Given the description of an element on the screen output the (x, y) to click on. 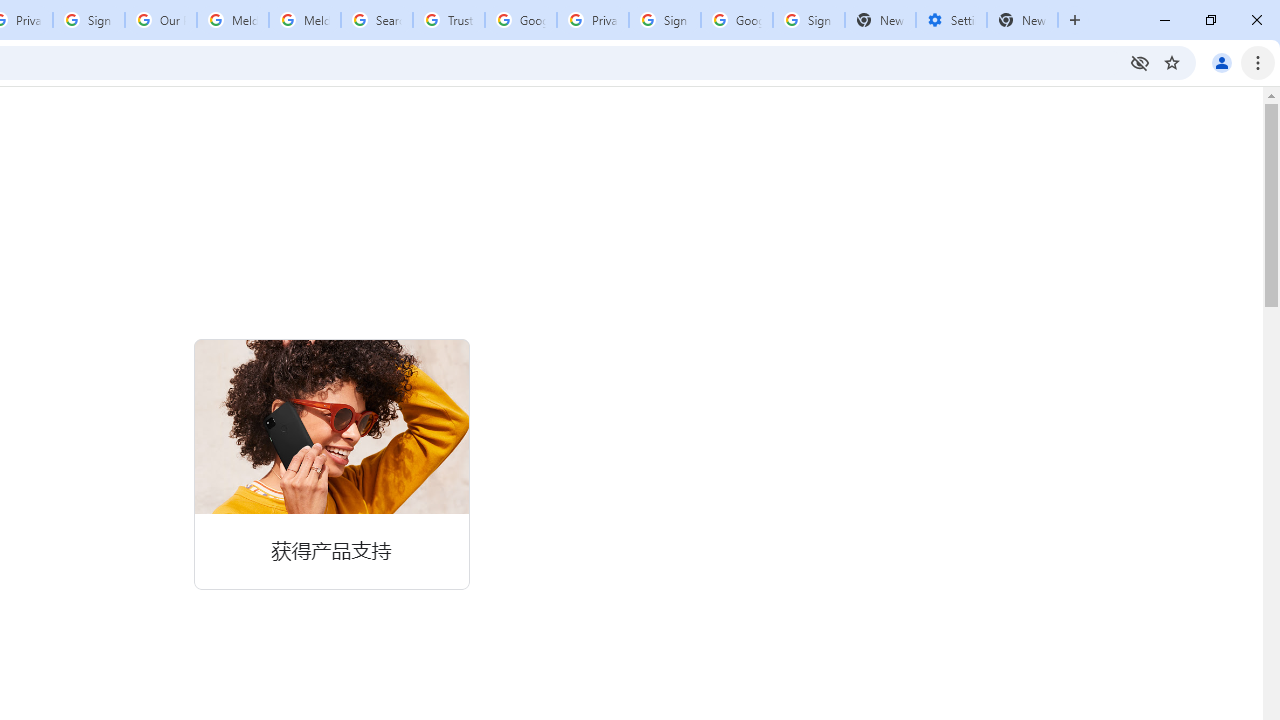
Sign in - Google Accounts (808, 20)
New Tab (1075, 20)
Minimize (1165, 20)
Search our Doodle Library Collection - Google Doodles (376, 20)
Restore (1210, 20)
You (1221, 62)
Chrome (1260, 62)
Bookmark this tab (1171, 62)
Settings - Addresses and more (951, 20)
Google Cybersecurity Innovations - Google Safety Center (737, 20)
